Given the description of an element on the screen output the (x, y) to click on. 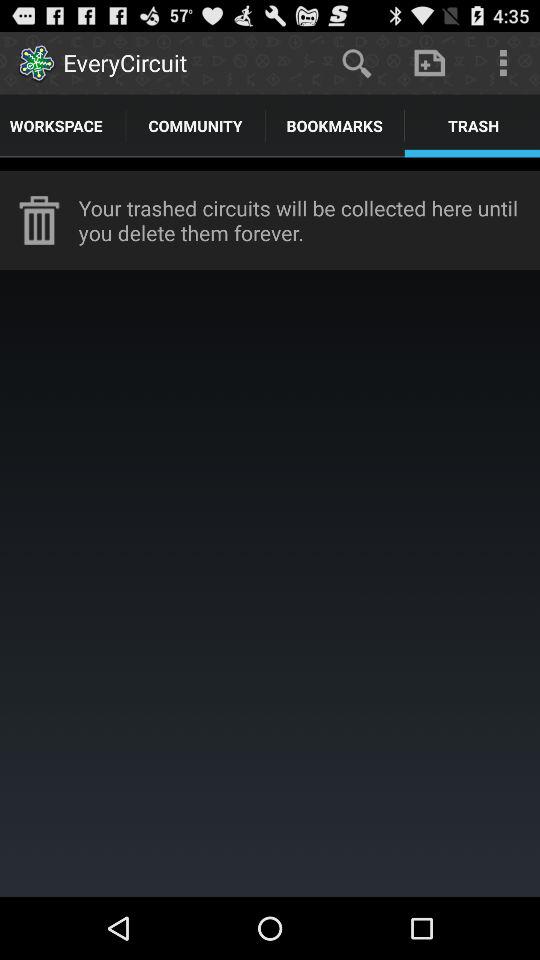
press the your trashed circuits (309, 220)
